Given the description of an element on the screen output the (x, y) to click on. 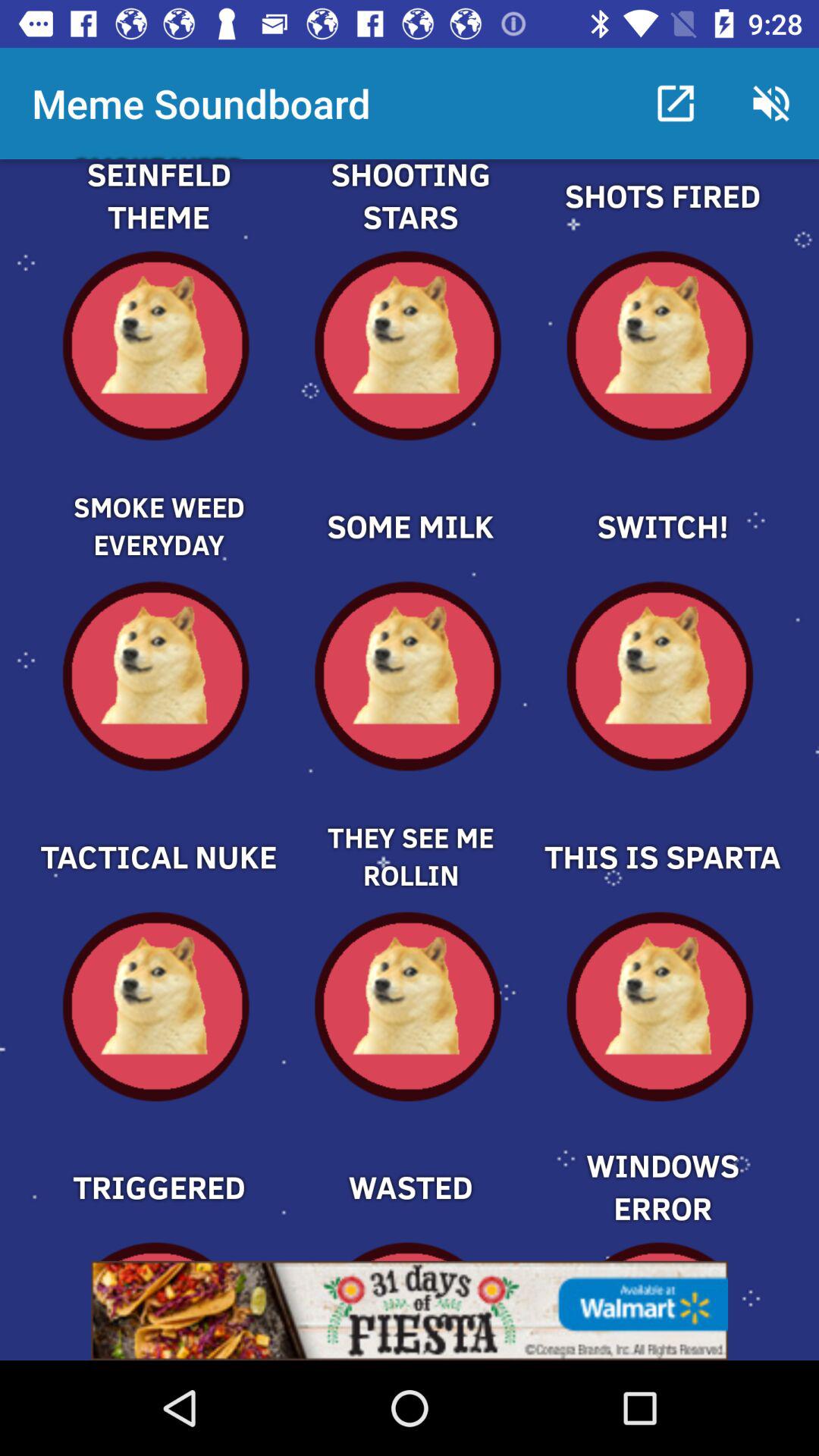
play displayed sound (157, 500)
